Given the description of an element on the screen output the (x, y) to click on. 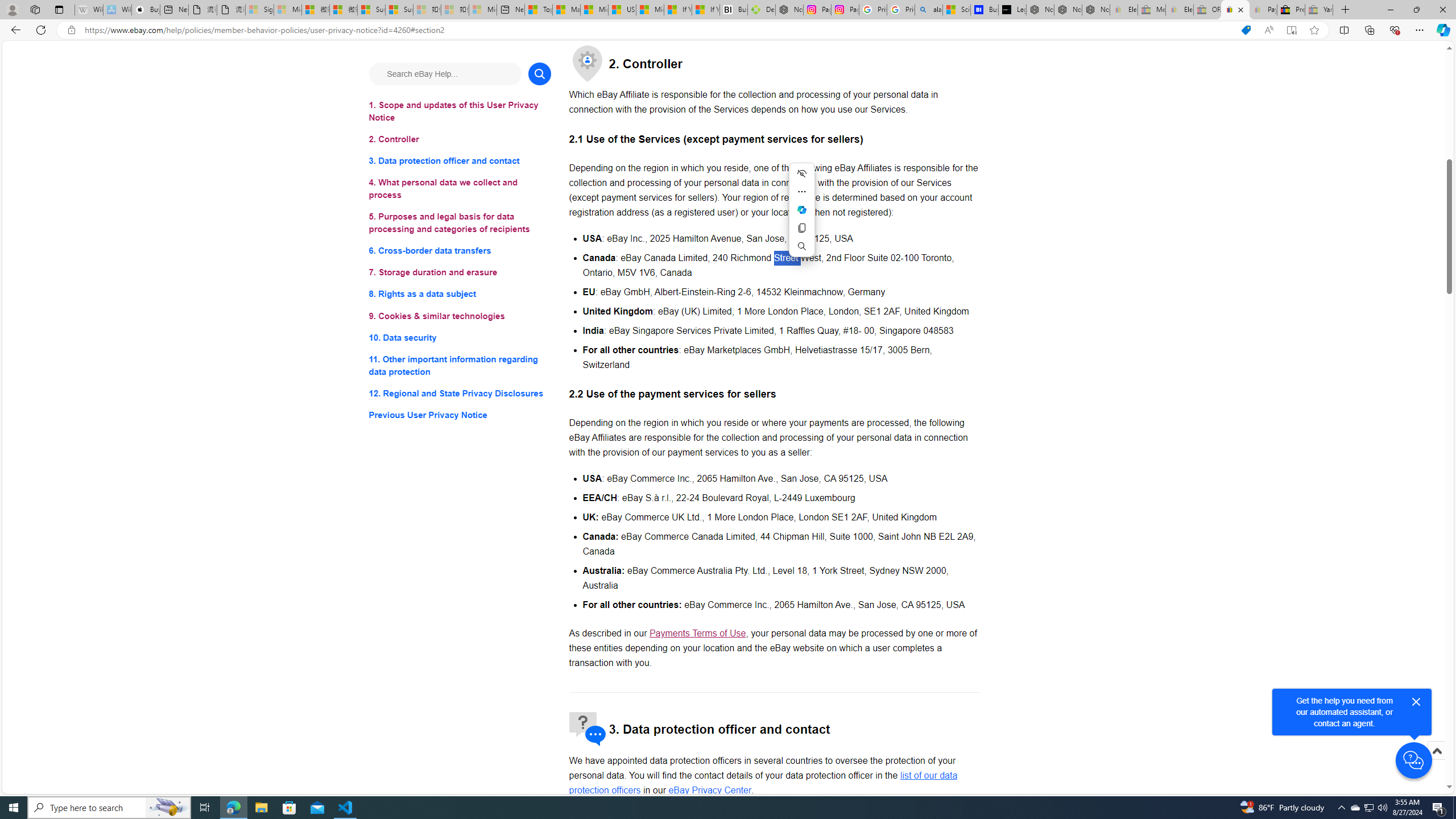
6. Cross-border data transfers (459, 250)
eBay Privacy Center - opens in new window or tab (709, 789)
Previous User Privacy Notice (459, 414)
Scroll to top (1435, 762)
Mini menu on text selection (801, 209)
